Given the description of an element on the screen output the (x, y) to click on. 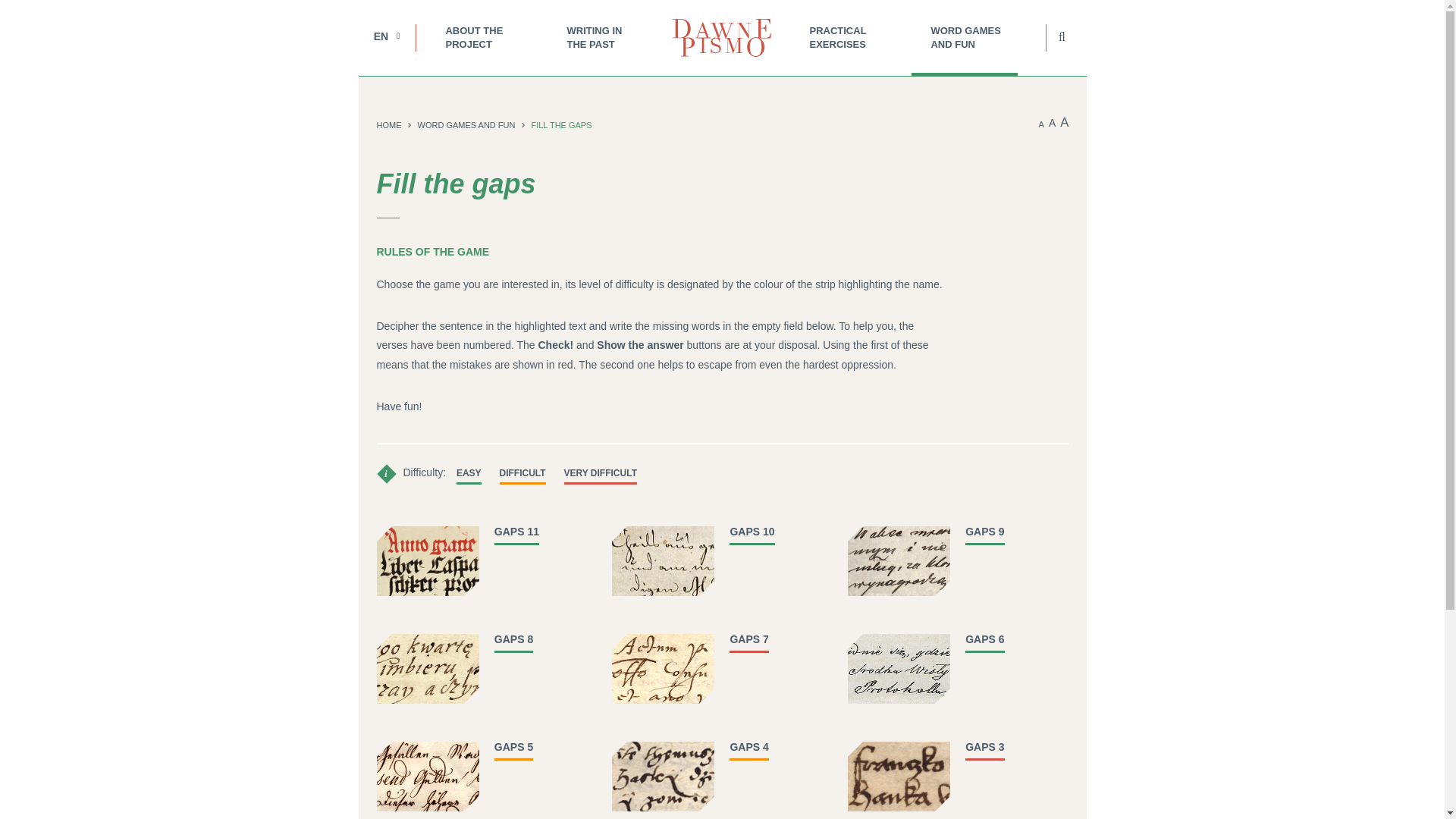
HOME (388, 124)
ABOUT THE PROJECT (483, 38)
GAPS 11 (516, 531)
WORD GAMES AND FUN (465, 124)
WRITING IN THE PAST (604, 38)
GAPS 8 (513, 639)
WORD GAMES AND FUN (968, 38)
GAPS 10 (751, 531)
GAPS 9 (984, 531)
PRACTICAL EXERCISES (847, 38)
